Given the description of an element on the screen output the (x, y) to click on. 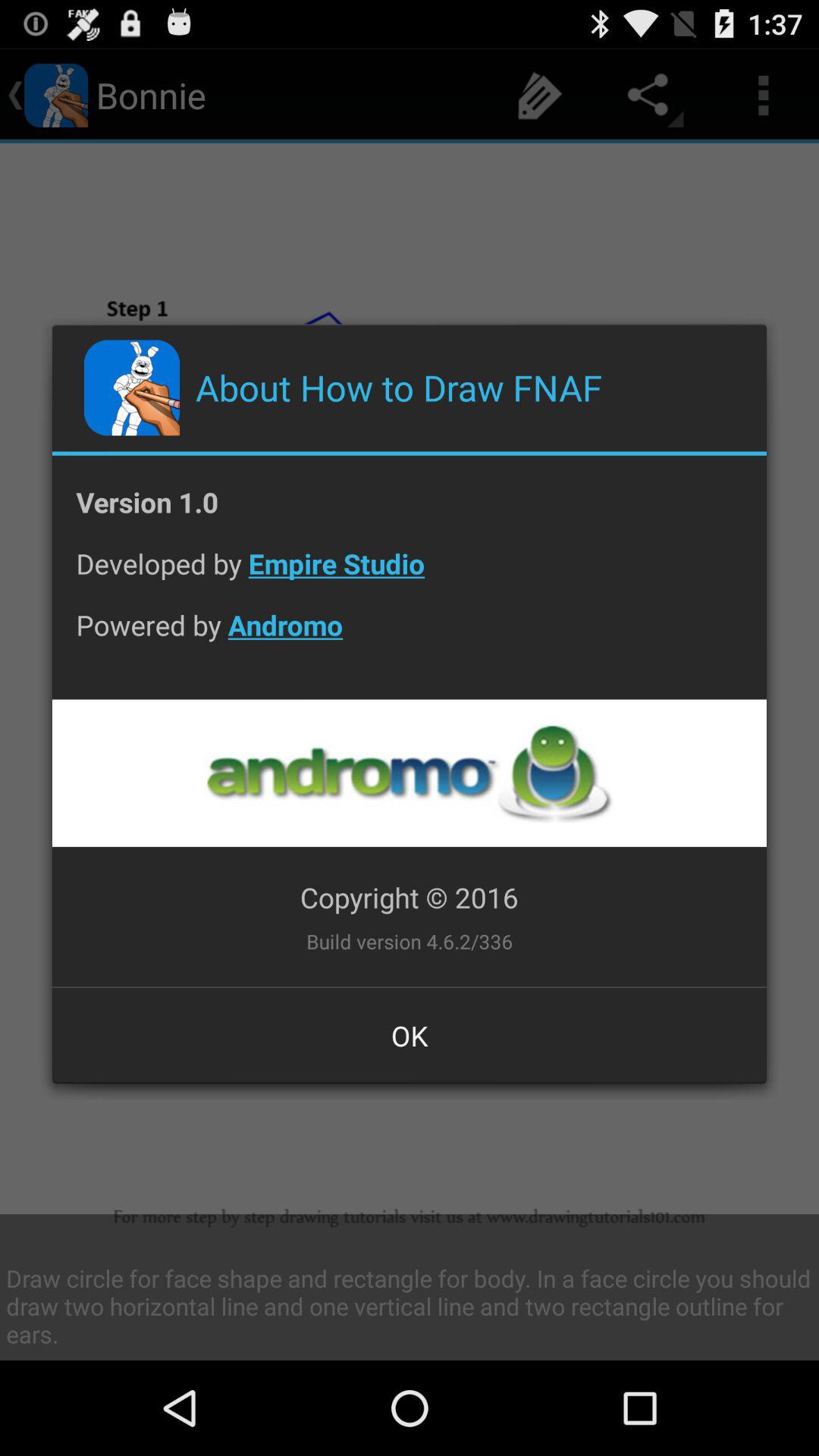
open item below the version 1.0 icon (409, 575)
